Given the description of an element on the screen output the (x, y) to click on. 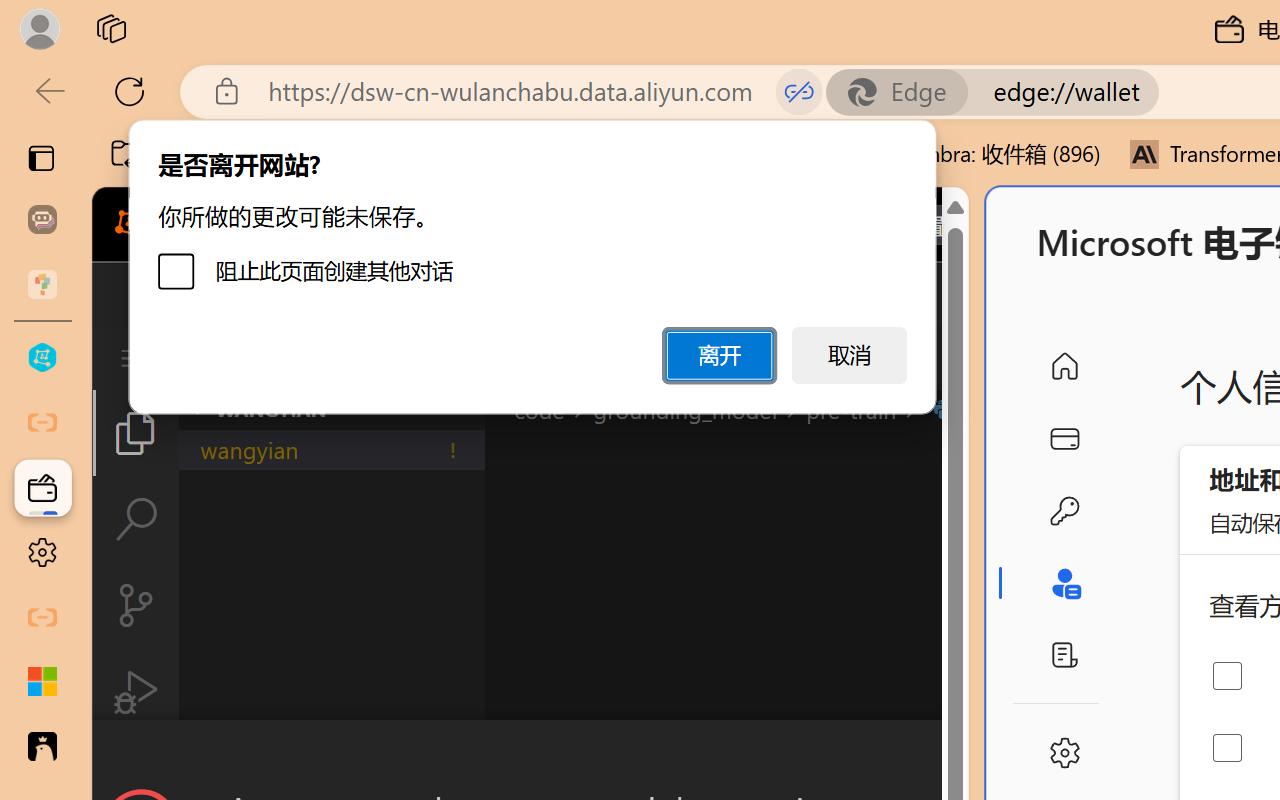
Run and Debug (Ctrl+Shift+D) (135, 692)
Class: actions-container (529, 756)
Adjust indents and spacing - Microsoft Support (42, 681)
Close Dialog (959, 756)
